Given the description of an element on the screen output the (x, y) to click on. 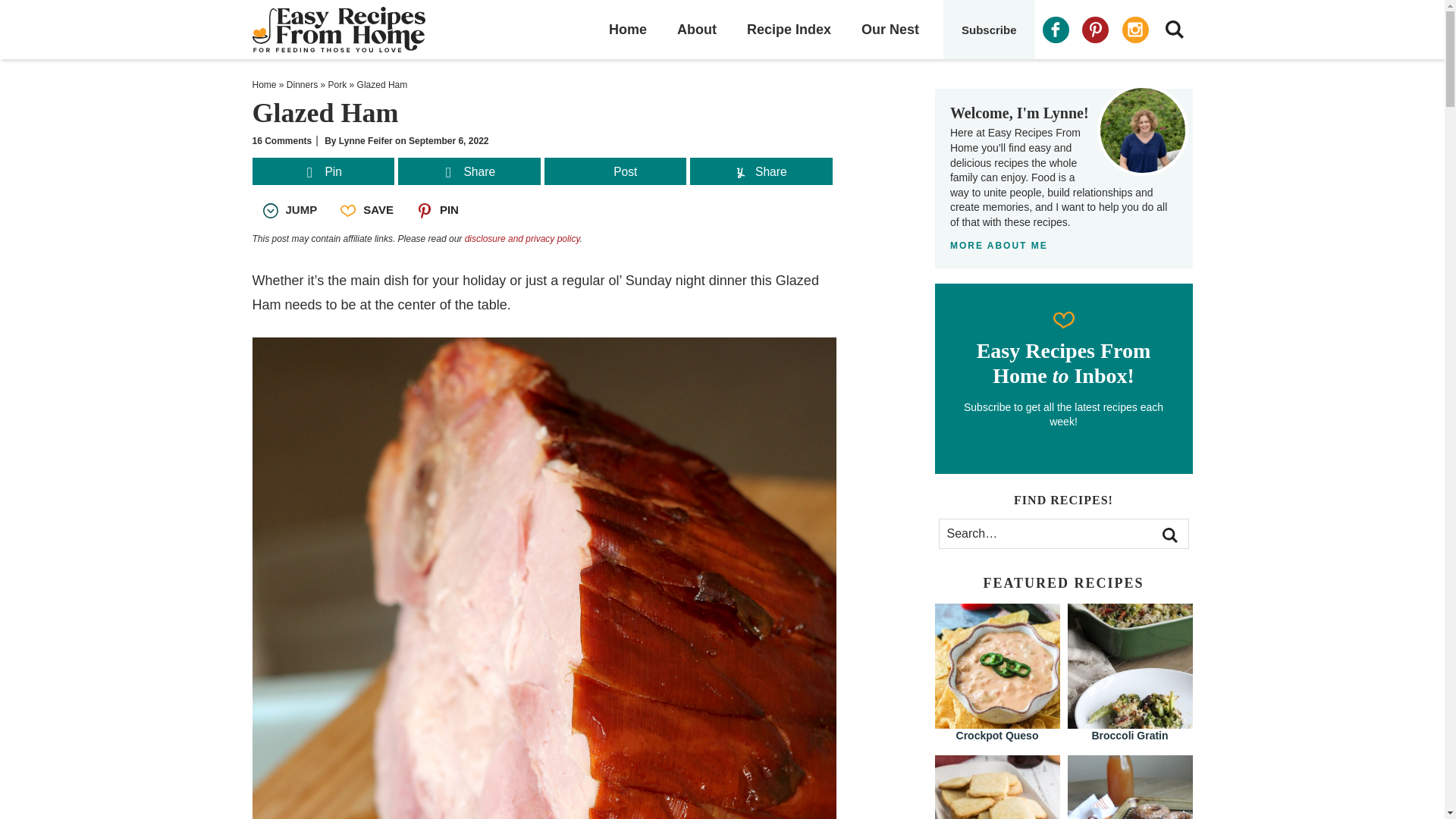
16 Comments (281, 140)
EASY RECIPES FROM HOME (368, 29)
PIN (436, 209)
Home (263, 84)
Share (469, 172)
JUMP (288, 209)
Recipe Index (788, 29)
SEARCH (1173, 29)
Dinners (301, 84)
